Given the description of an element on the screen output the (x, y) to click on. 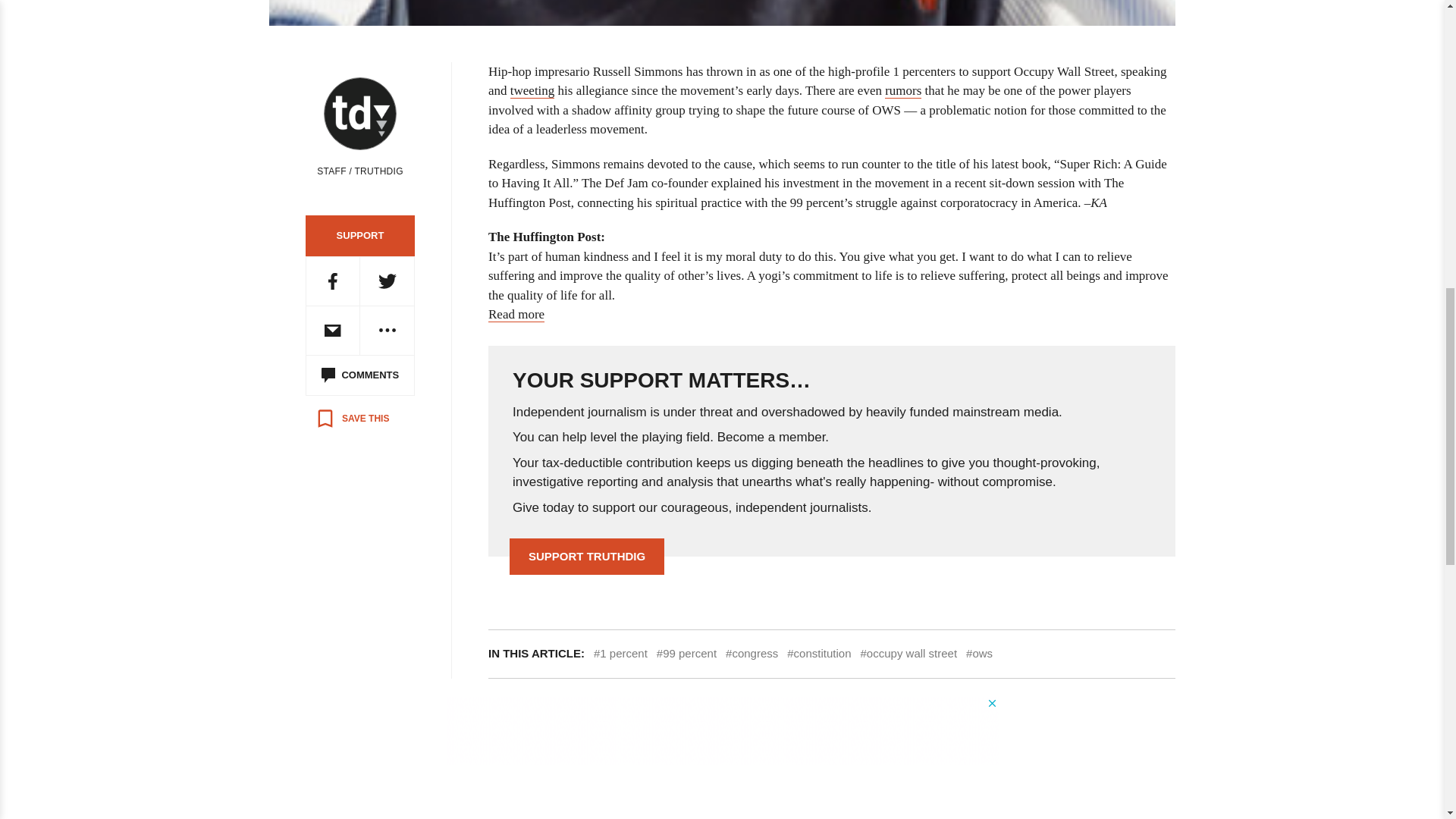
tweeting (532, 90)
Save to read later (351, 418)
3rd party ad content (721, 730)
rumors (903, 90)
Read more (515, 314)
